Given the description of an element on the screen output the (x, y) to click on. 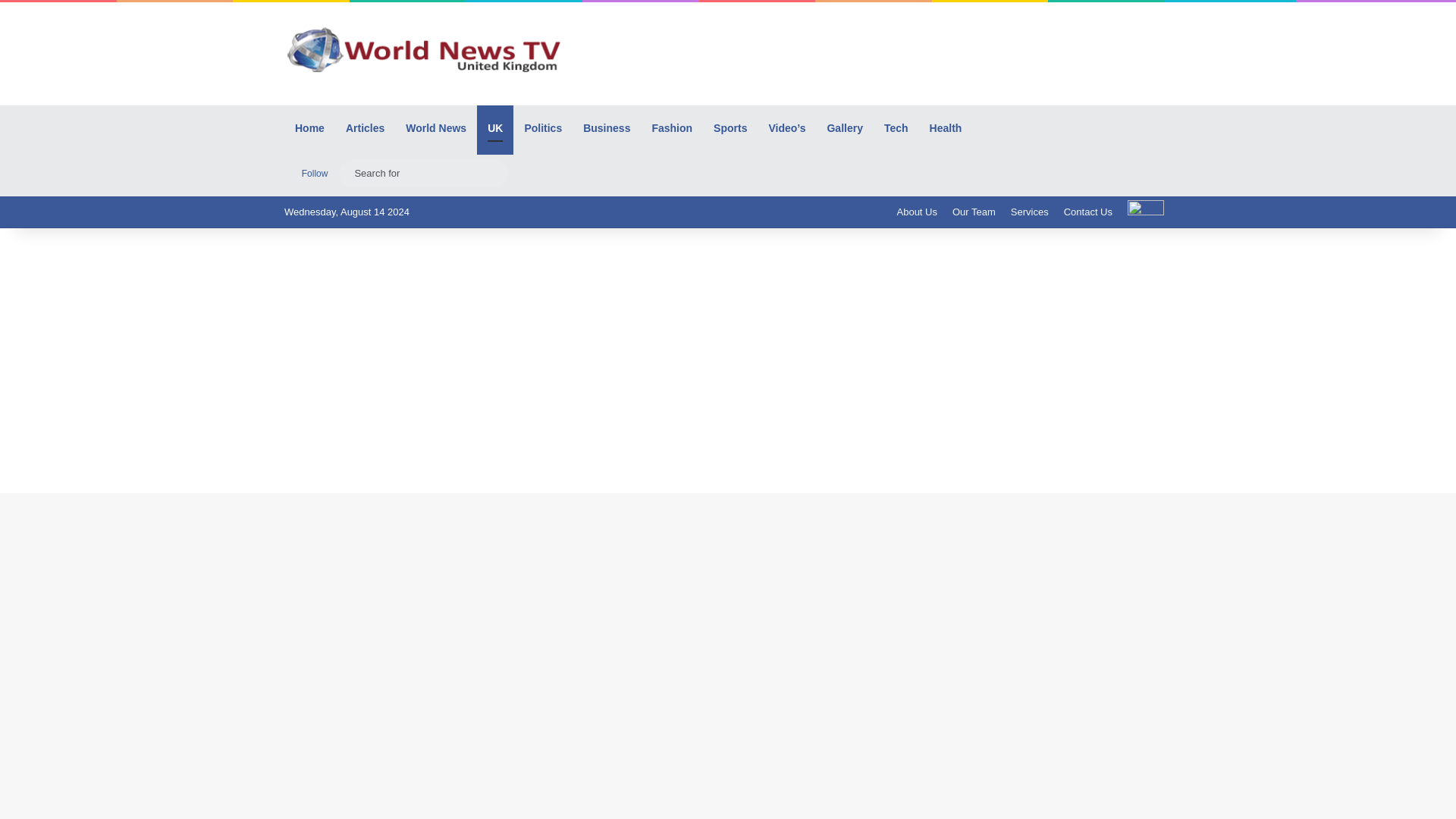
Follow (311, 173)
Our Team (973, 212)
Search for (492, 173)
Tech (895, 127)
Sports (730, 127)
Services (1030, 212)
About Us (915, 212)
Politics (542, 127)
Contact Us (1088, 212)
World News TV (423, 48)
